Given the description of an element on the screen output the (x, y) to click on. 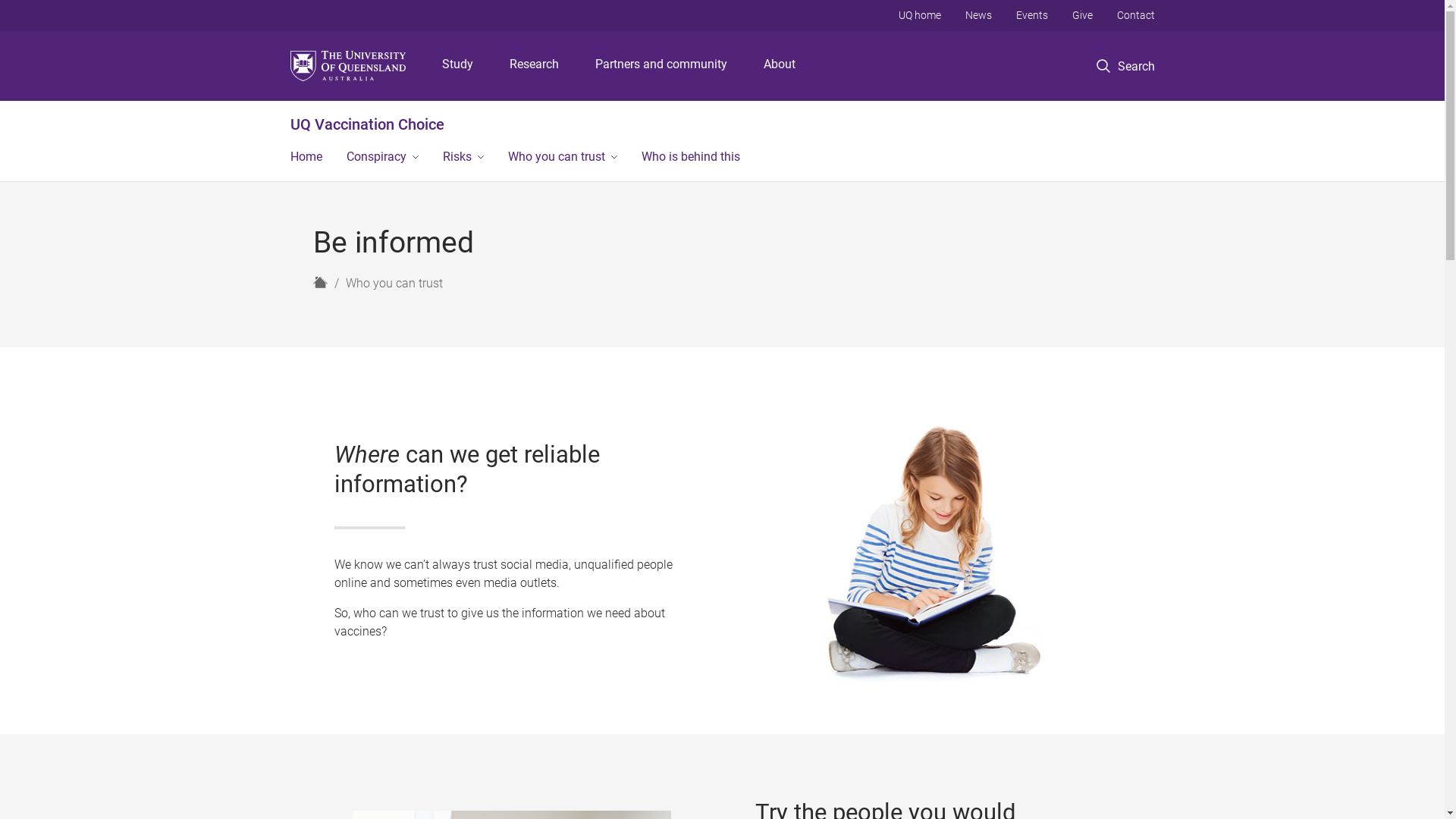
Home Element type: text (319, 282)
Home Element type: text (305, 158)
Conspiracy Element type: text (381, 158)
Contact Element type: text (1135, 15)
Events Element type: text (1032, 15)
Who is behind this Element type: text (690, 158)
Search Element type: text (1140, 117)
Partners and community Element type: text (661, 65)
Give Element type: text (1082, 15)
UQ home Element type: text (918, 15)
Skip to menu Element type: text (721, 0)
Risks Element type: text (462, 158)
News Element type: text (977, 15)
Study Element type: text (457, 65)
Who you can trust Element type: text (393, 283)
Home Element type: hover (319, 282)
UQ Vaccination Choice Element type: text (366, 124)
Search Element type: text (1125, 66)
About Element type: text (779, 65)
Who you can trust Element type: text (562, 158)
Research Element type: text (533, 65)
